Given the description of an element on the screen output the (x, y) to click on. 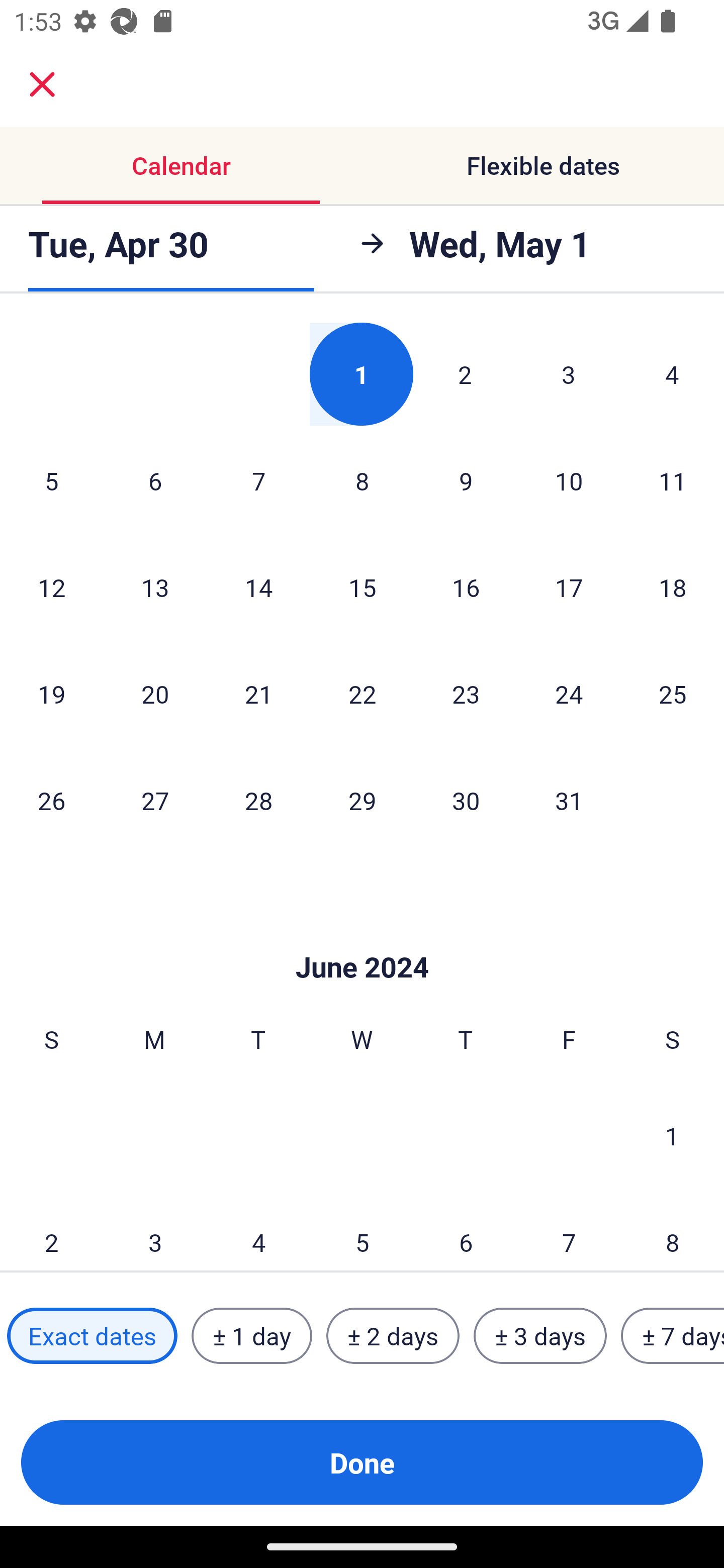
close. (42, 84)
Flexible dates (542, 164)
2 Thursday, May 2, 2024 (464, 373)
3 Friday, May 3, 2024 (568, 373)
4 Saturday, May 4, 2024 (672, 373)
5 Sunday, May 5, 2024 (51, 480)
6 Monday, May 6, 2024 (155, 480)
7 Tuesday, May 7, 2024 (258, 480)
8 Wednesday, May 8, 2024 (362, 480)
9 Thursday, May 9, 2024 (465, 480)
10 Friday, May 10, 2024 (569, 480)
11 Saturday, May 11, 2024 (672, 480)
12 Sunday, May 12, 2024 (51, 587)
13 Monday, May 13, 2024 (155, 587)
14 Tuesday, May 14, 2024 (258, 587)
15 Wednesday, May 15, 2024 (362, 587)
16 Thursday, May 16, 2024 (465, 587)
17 Friday, May 17, 2024 (569, 587)
18 Saturday, May 18, 2024 (672, 587)
19 Sunday, May 19, 2024 (51, 693)
20 Monday, May 20, 2024 (155, 693)
21 Tuesday, May 21, 2024 (258, 693)
22 Wednesday, May 22, 2024 (362, 693)
23 Thursday, May 23, 2024 (465, 693)
24 Friday, May 24, 2024 (569, 693)
25 Saturday, May 25, 2024 (672, 693)
26 Sunday, May 26, 2024 (51, 800)
27 Monday, May 27, 2024 (155, 800)
28 Tuesday, May 28, 2024 (258, 800)
29 Wednesday, May 29, 2024 (362, 800)
30 Thursday, May 30, 2024 (465, 800)
31 Friday, May 31, 2024 (569, 800)
Skip to Done (362, 937)
1 Saturday, June 1, 2024 (672, 1134)
2 Sunday, June 2, 2024 (51, 1230)
3 Monday, June 3, 2024 (155, 1230)
4 Tuesday, June 4, 2024 (258, 1230)
5 Wednesday, June 5, 2024 (362, 1230)
6 Thursday, June 6, 2024 (465, 1230)
7 Friday, June 7, 2024 (569, 1230)
8 Saturday, June 8, 2024 (672, 1230)
Exact dates (92, 1335)
± 1 day (251, 1335)
± 2 days (392, 1335)
± 3 days (539, 1335)
± 7 days (672, 1335)
Done (361, 1462)
